Given the description of an element on the screen output the (x, y) to click on. 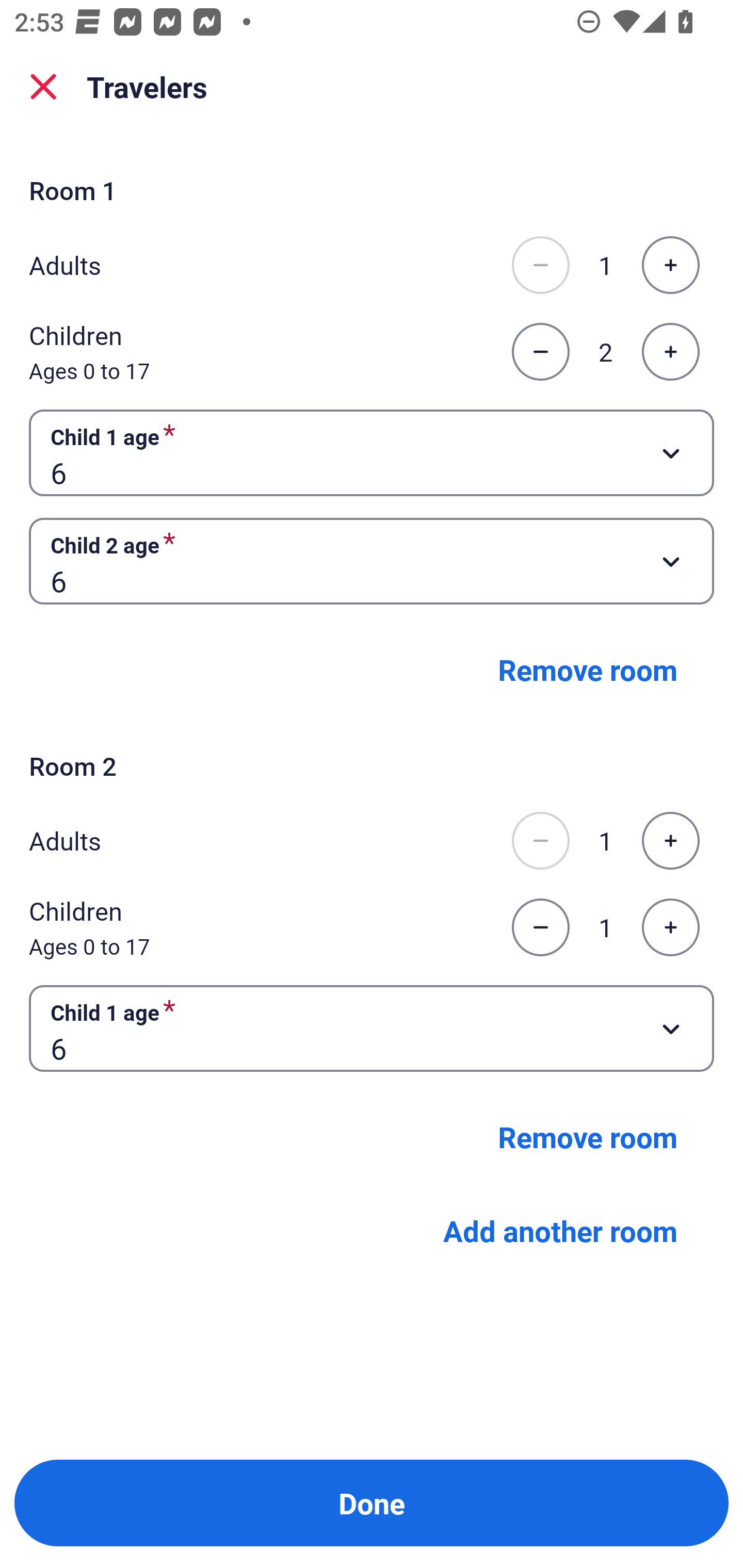
close (43, 86)
Decrease the number of adults (540, 264)
Increase the number of adults (670, 264)
Decrease the number of children (540, 351)
Increase the number of children (670, 351)
Child 1 age required Button 6 (371, 452)
Child 2 age required Button 6 (371, 561)
Remove room (588, 669)
Decrease the number of adults (540, 841)
Increase the number of adults (670, 841)
Decrease the number of children (540, 927)
Increase the number of children (670, 927)
Child 1 age required Button 6 (371, 1028)
Remove room (588, 1136)
Add another room (560, 1229)
Done (371, 1502)
